Given the description of an element on the screen output the (x, y) to click on. 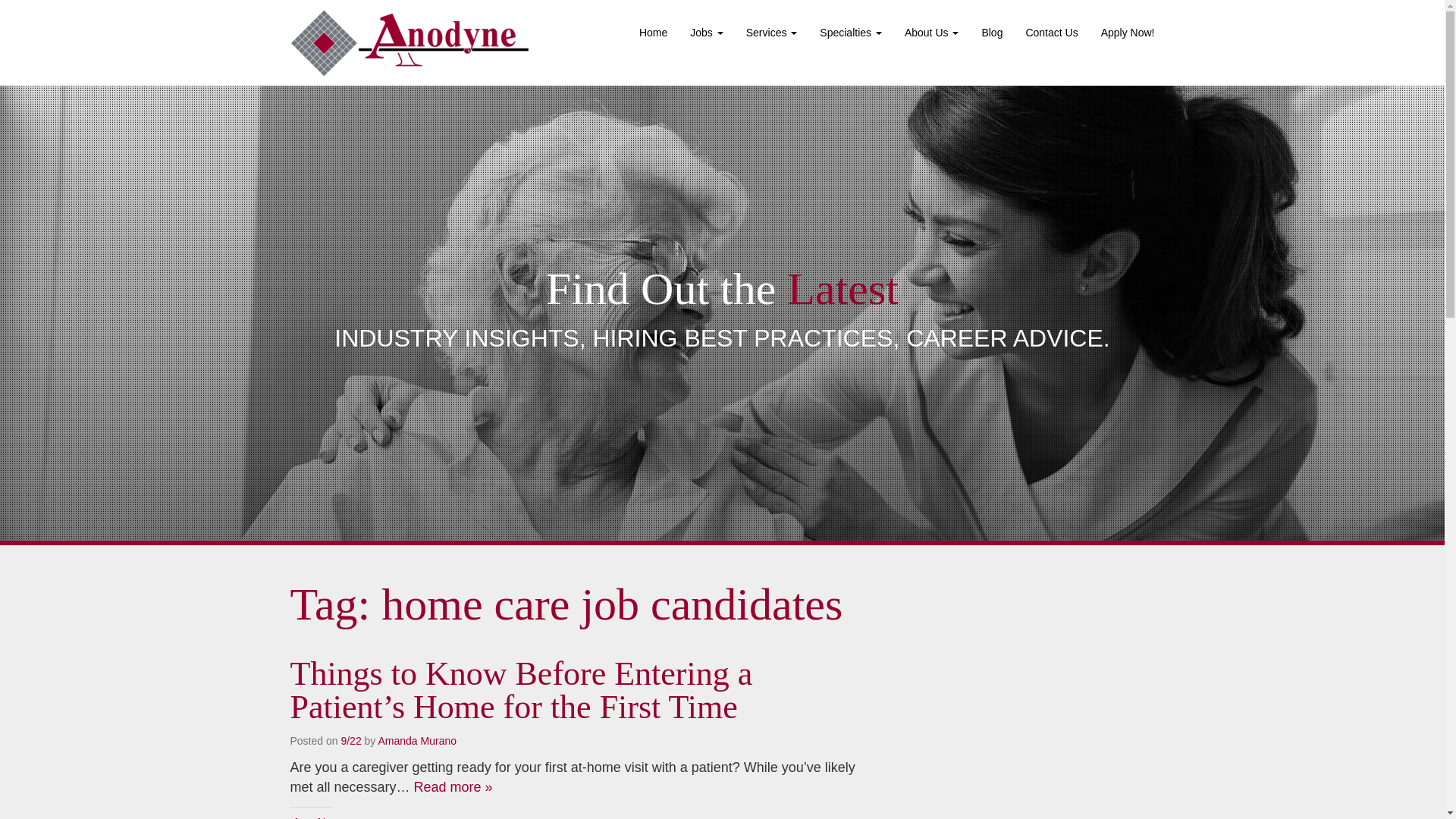
Apply Now! (1127, 32)
Specialties (850, 32)
Services (772, 32)
Home (652, 32)
Contact Us (1051, 32)
Anodyne (408, 42)
Services (772, 32)
About Us (931, 32)
Amanda Murano (417, 740)
Specialties (850, 32)
Jobs (705, 32)
Home (652, 32)
Jobs (705, 32)
Blog (991, 32)
